Given the description of an element on the screen output the (x, y) to click on. 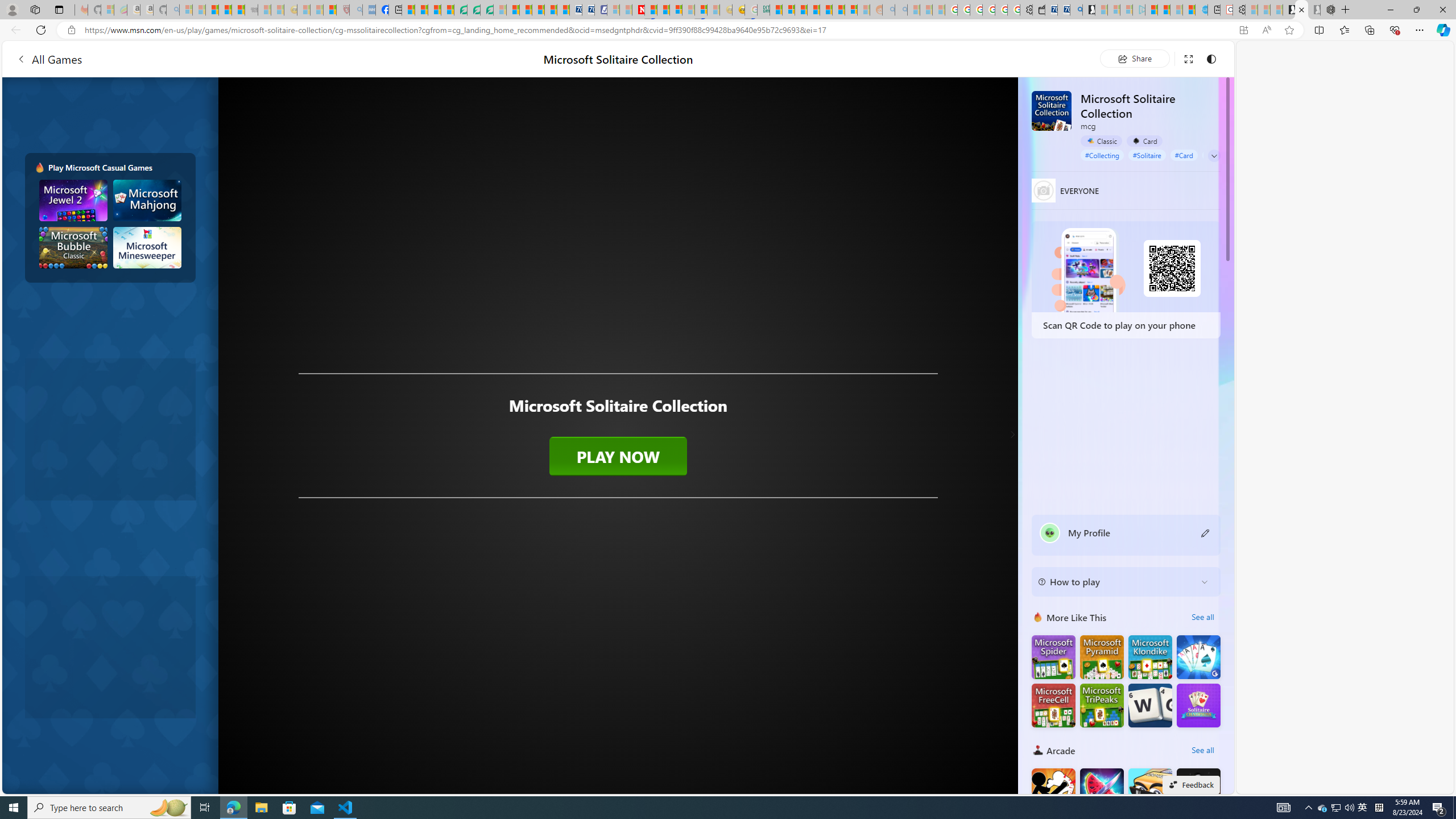
Microsoft Mahjong (147, 200)
Latest Politics News & Archive | Newsweek.com (638, 9)
